Given the description of an element on the screen output the (x, y) to click on. 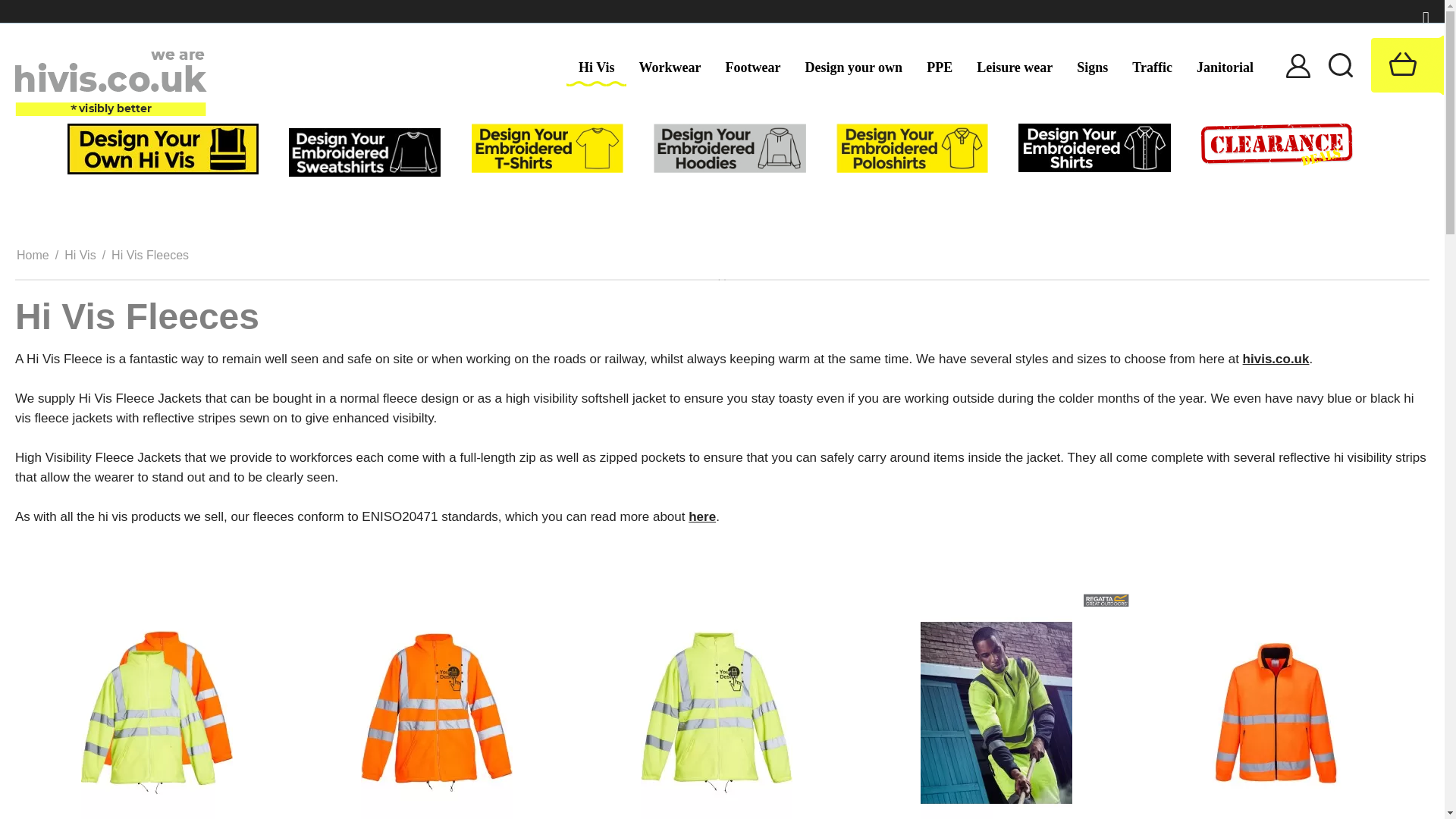
Hivis clearance deals (1276, 143)
Custom Embroidered T-Shirts (547, 146)
Custom Embroidered Sweatshirts (364, 151)
Custom Embroidered Hoodies (729, 146)
Custom Embroidered Sweatshirts (364, 151)
No image (721, 279)
Custom Embroidered Shirts (1093, 146)
Design hi vis clothing (162, 148)
Hi Vis (596, 67)
